Given the description of an element on the screen output the (x, y) to click on. 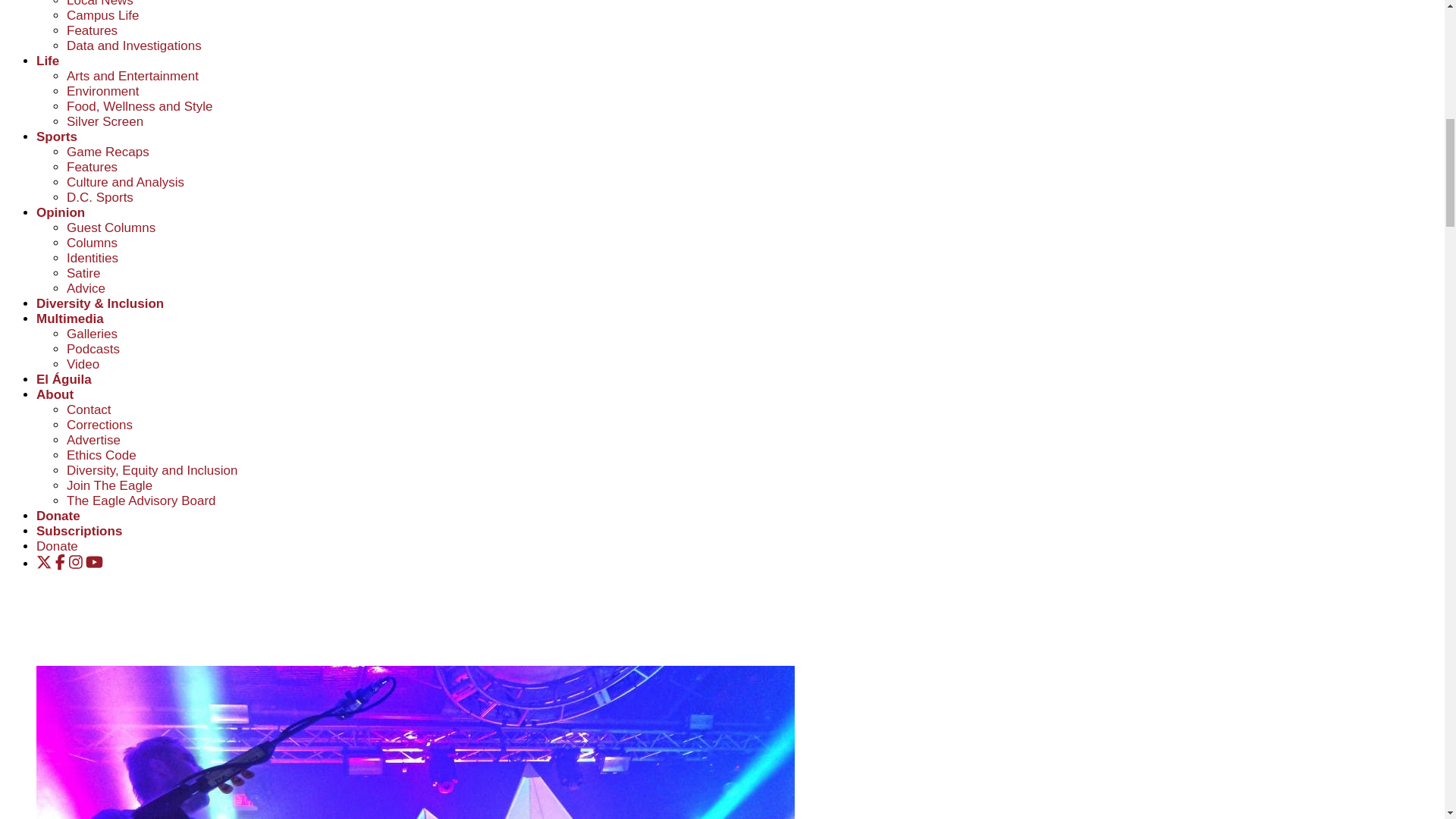
Donate (57, 545)
Subscriptions (79, 531)
Donate (58, 515)
